Given the description of an element on the screen output the (x, y) to click on. 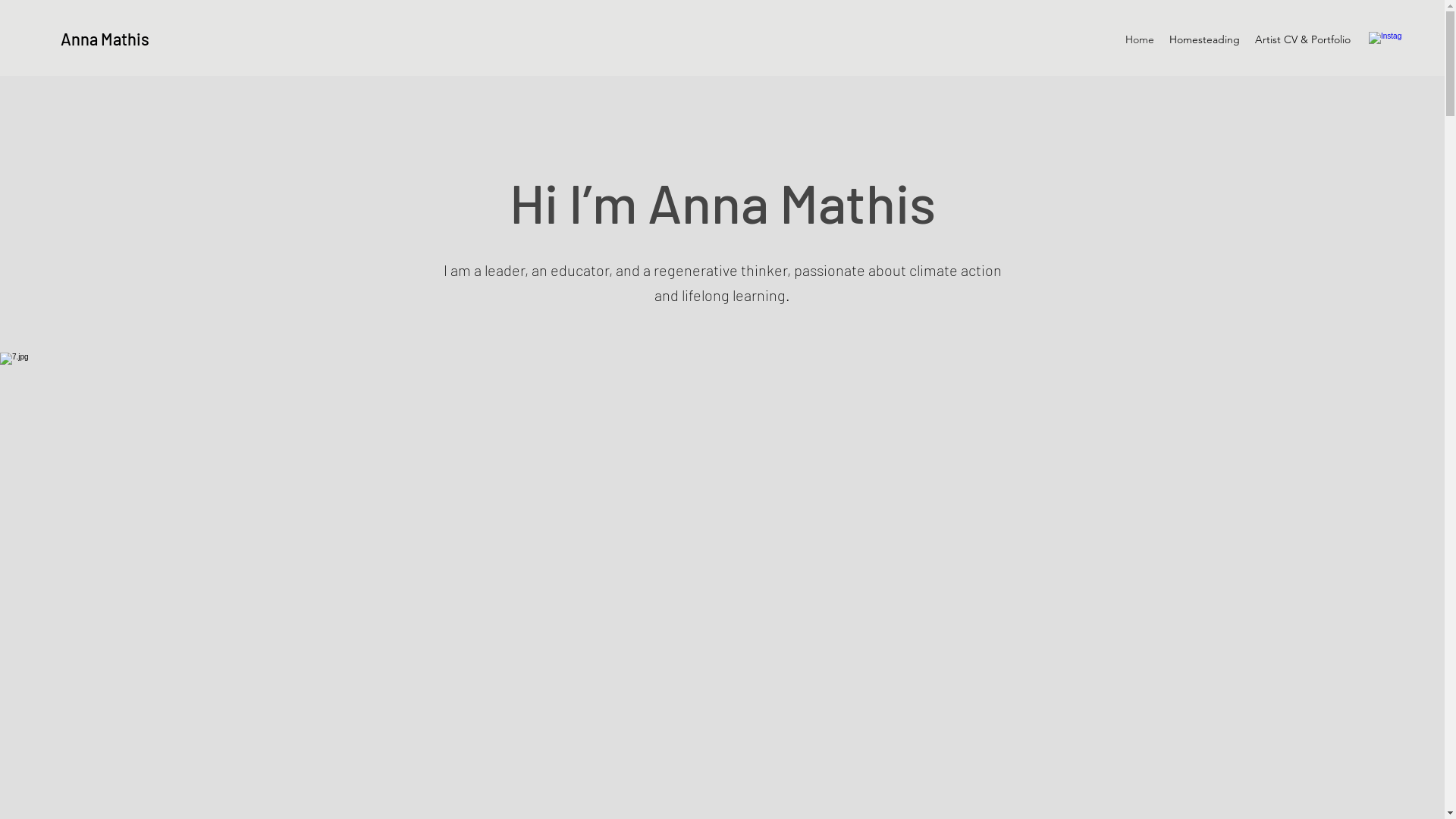
Artist CV & Portfolio Element type: text (1302, 39)
Anna Mathis Element type: text (104, 38)
Home Element type: text (1139, 39)
Homesteading Element type: text (1204, 39)
